Given the description of an element on the screen output the (x, y) to click on. 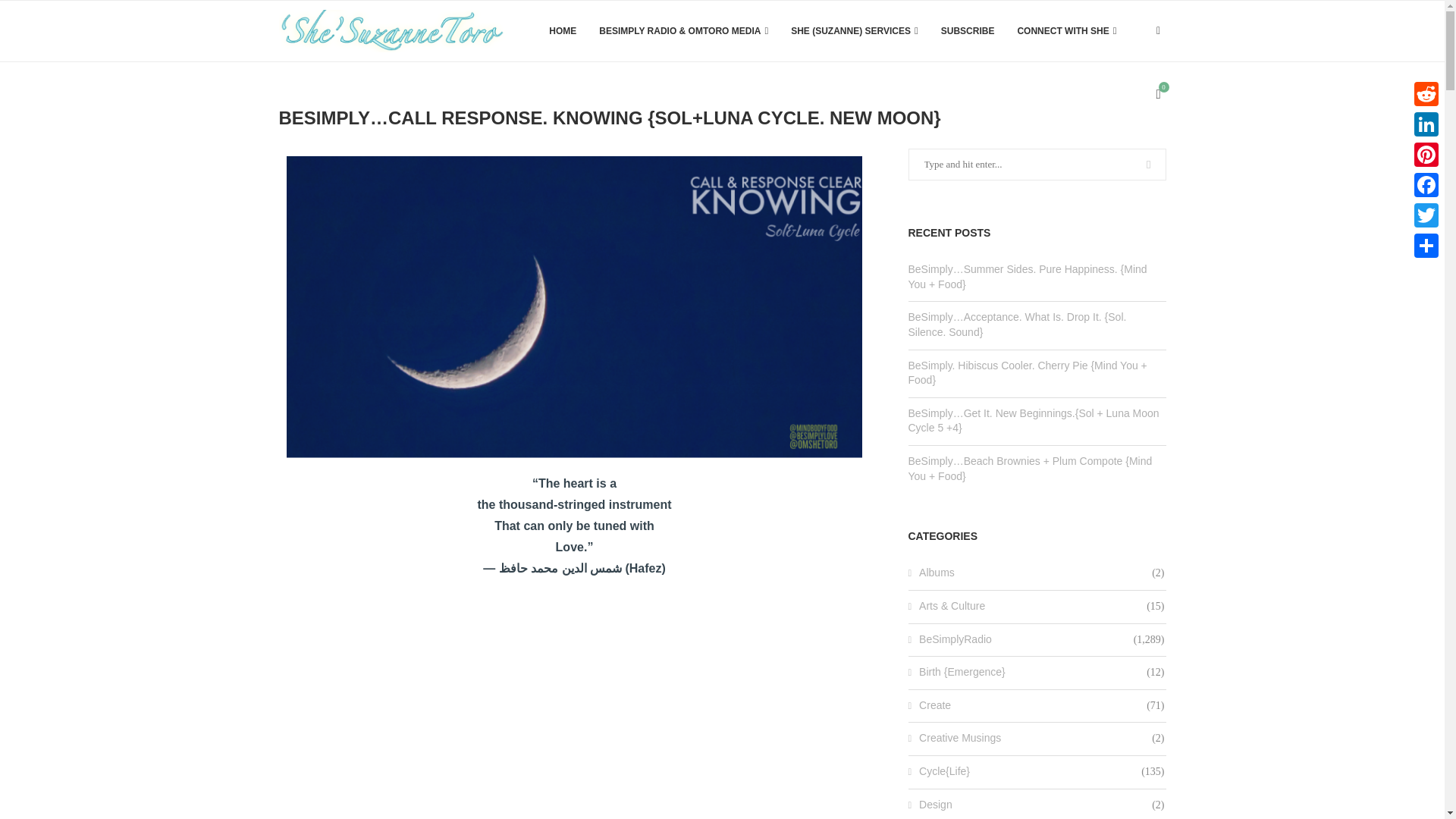
Pinterest (1425, 154)
Reddit (1425, 93)
LinkedIn (1425, 123)
